Given the description of an element on the screen output the (x, y) to click on. 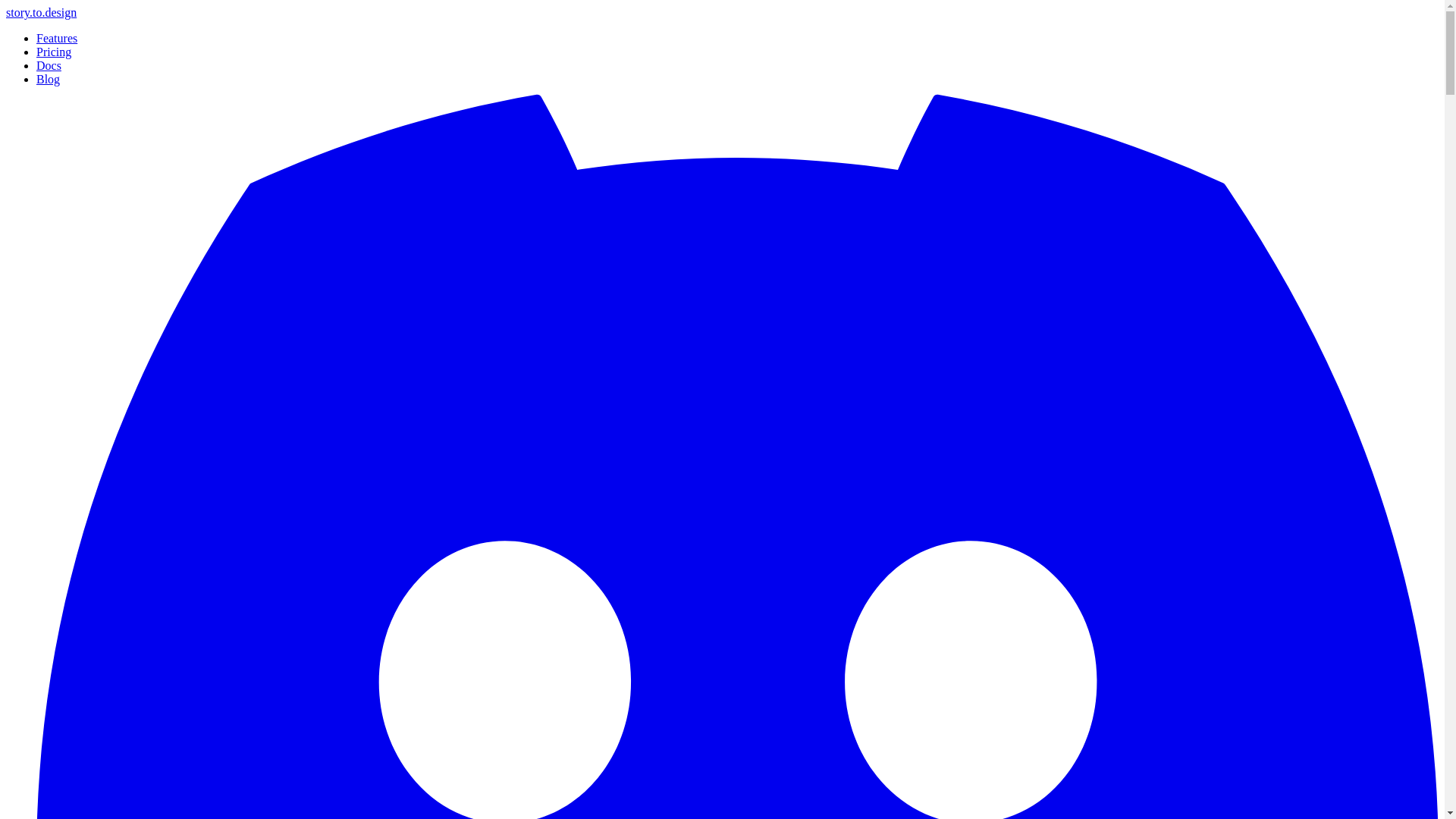
story.to.design (41, 11)
Pricing (53, 51)
Blog (47, 78)
Features (56, 38)
Docs (48, 65)
